Given the description of an element on the screen output the (x, y) to click on. 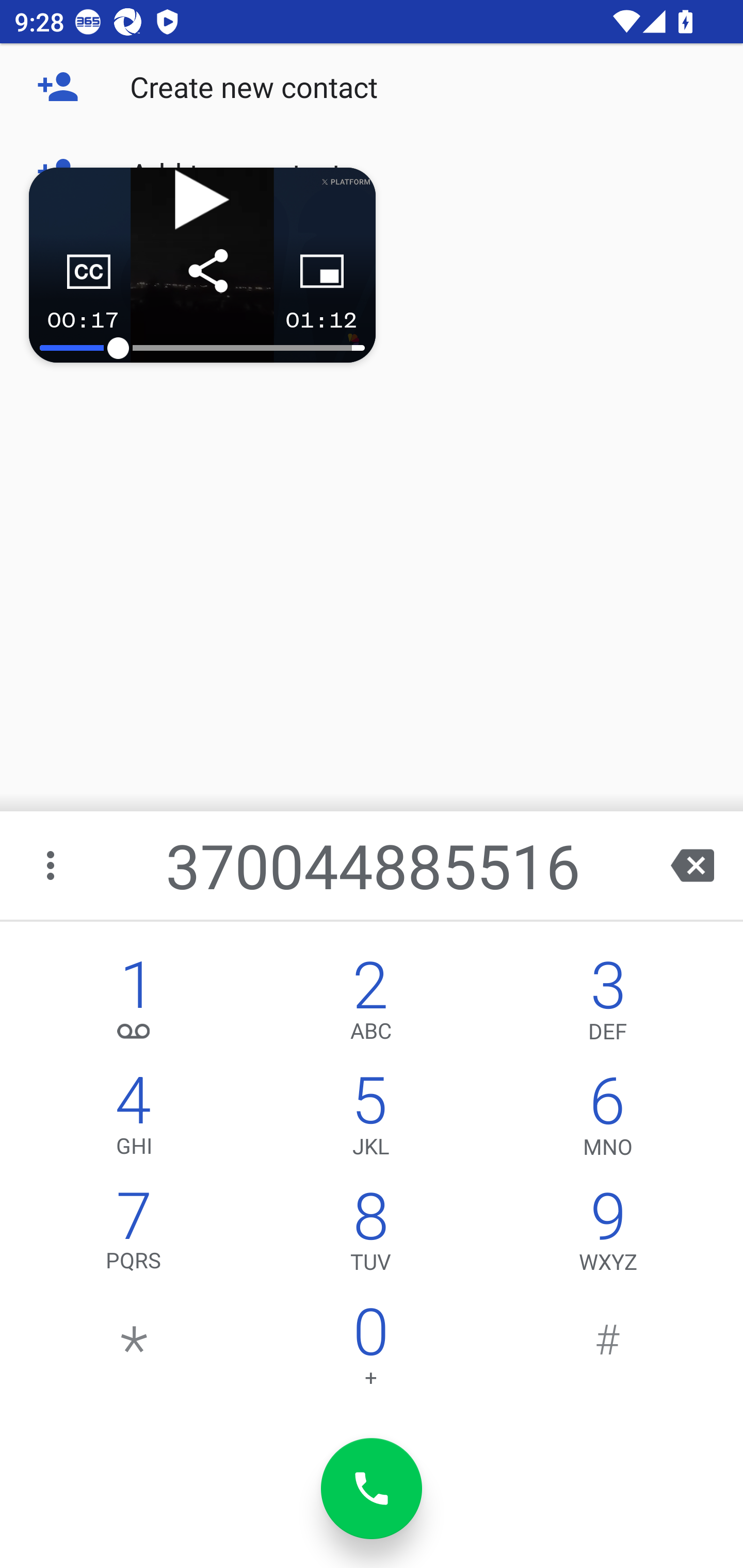
Create new contact (371, 86)
370044885516 (372, 865)
backspace (692, 865)
More options (52, 865)
1, 1 (133, 1005)
2,ABC 2 ABC (370, 1005)
3,DEF 3 DEF (607, 1005)
4,GHI 4 GHI (133, 1120)
5,JKL 5 JKL (370, 1120)
6,MNO 6 MNO (607, 1120)
7,PQRS 7 PQRS (133, 1235)
8,TUV 8 TUV (370, 1235)
9,WXYZ 9 WXYZ (607, 1235)
* (133, 1351)
0 0 + (370, 1351)
# (607, 1351)
dial (371, 1488)
